Given the description of an element on the screen output the (x, y) to click on. 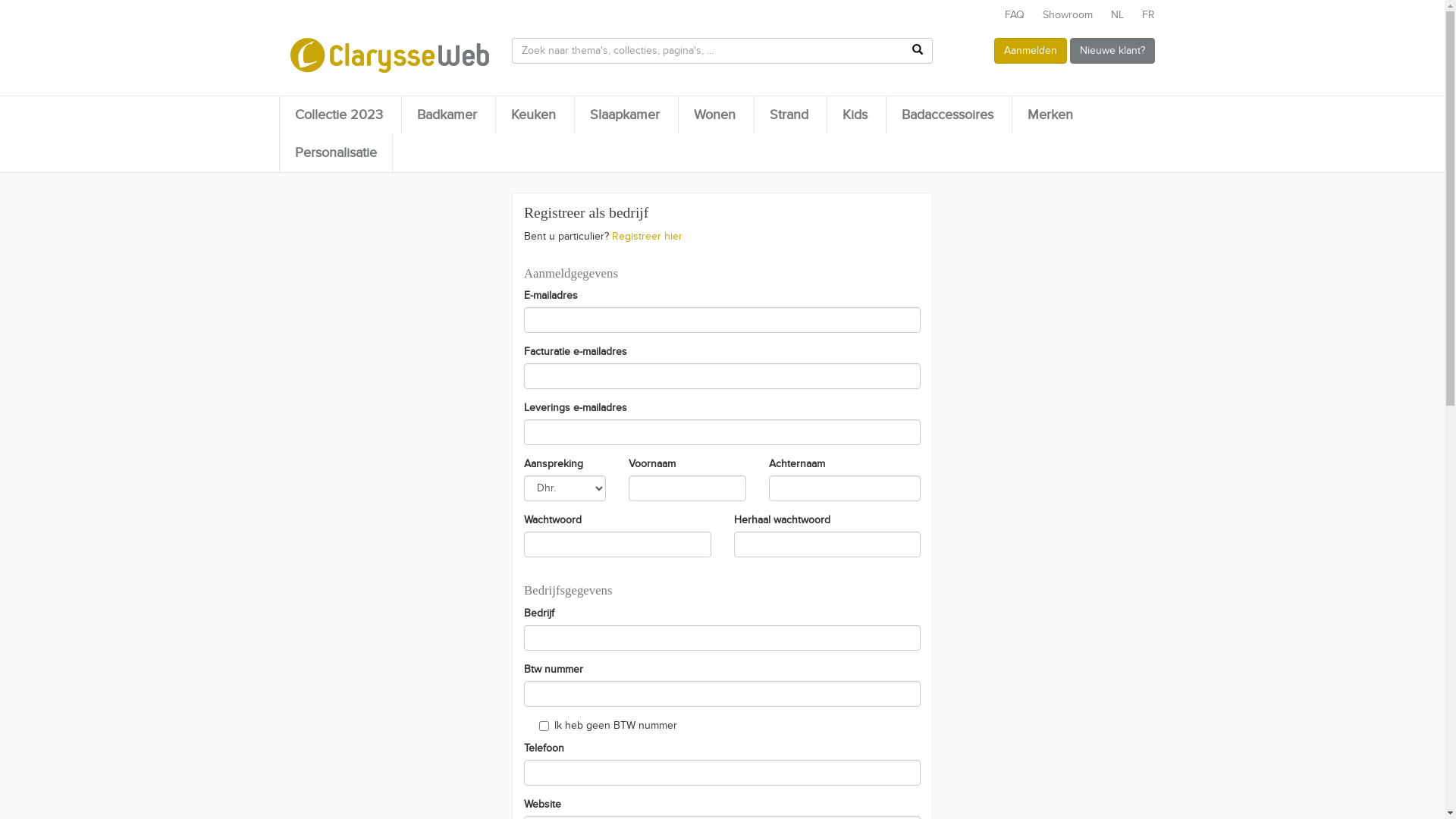
Kids Element type: text (853, 115)
Merken Element type: text (1049, 115)
FAQ Element type: text (1013, 14)
FR Element type: text (1148, 14)
Registreer hier Element type: text (646, 236)
NL Element type: text (1116, 14)
Strand Element type: text (787, 115)
Keuken Element type: text (533, 115)
Personalisatie Element type: text (335, 153)
Showroom Element type: text (1066, 14)
Badkamer Element type: text (446, 115)
Wonen Element type: text (713, 115)
Badaccessoires Element type: text (946, 115)
Nieuwe klant? Element type: text (1111, 50)
Slaapkamer Element type: text (624, 115)
Aanmelden Element type: text (1029, 50)
Collectie 2023 Element type: text (338, 115)
